Given the description of an element on the screen output the (x, y) to click on. 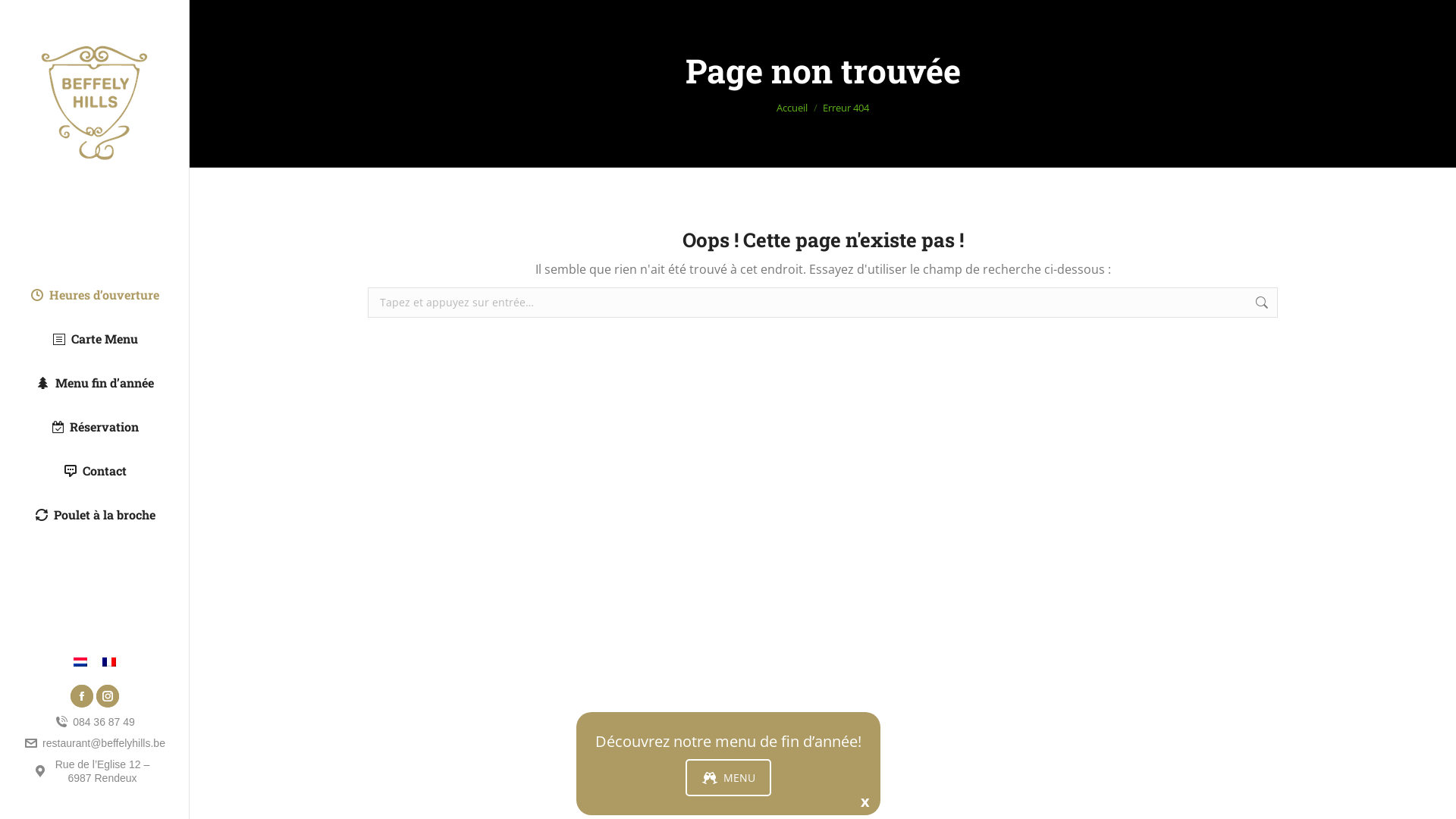
Aller ! Element type: text (1306, 303)
MENU Element type: text (728, 777)
Contact Element type: text (93, 470)
Accueil Element type: text (791, 106)
x Element type: text (864, 800)
Carte Menu Element type: text (93, 338)
084 36 87 49 Element type: text (93, 721)
restaurant@beffelyhills.be Element type: text (94, 742)
